Given the description of an element on the screen output the (x, y) to click on. 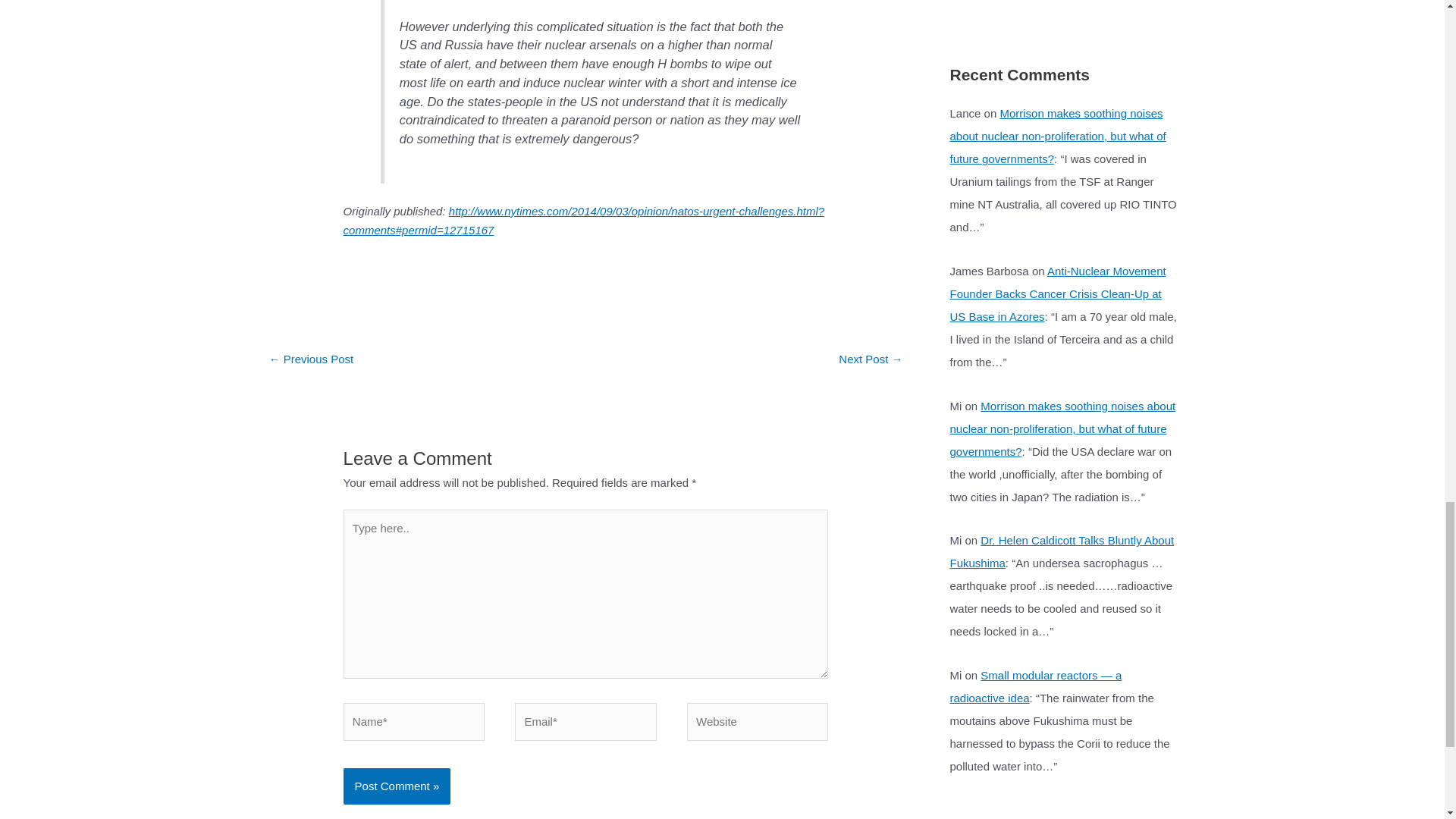
Australia sleepwalks towards a dangerous nuclear future (310, 360)
